Given the description of an element on the screen output the (x, y) to click on. 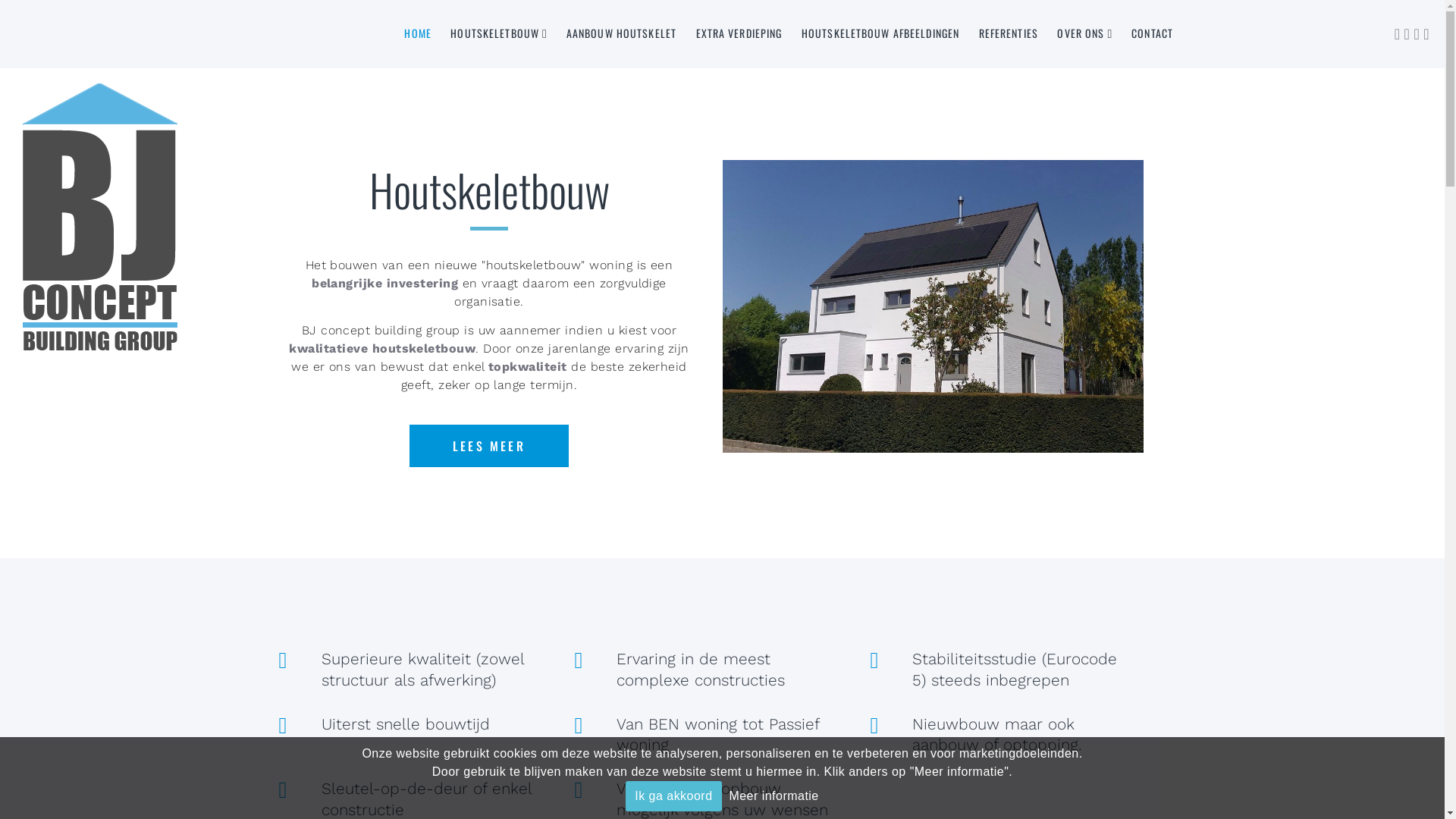
AANBOUW HOUTSKELET Element type: text (621, 32)
EXTRA VERDIEPING Element type: text (739, 32)
houtskelet optopping Element type: hover (931, 306)
OVER ONS Element type: text (1080, 32)
HOUTSKELETBOUW Element type: text (494, 32)
LEES MEER Element type: text (488, 445)
REFERENTIES Element type: text (1008, 32)
HOUTSKELETBOUW AFBEELDINGEN Element type: text (880, 32)
Ik ga akkoord Element type: text (673, 796)
HOME Element type: text (417, 32)
CONTACT Element type: text (1152, 32)
Meer informatie Element type: text (773, 795)
